Given the description of an element on the screen output the (x, y) to click on. 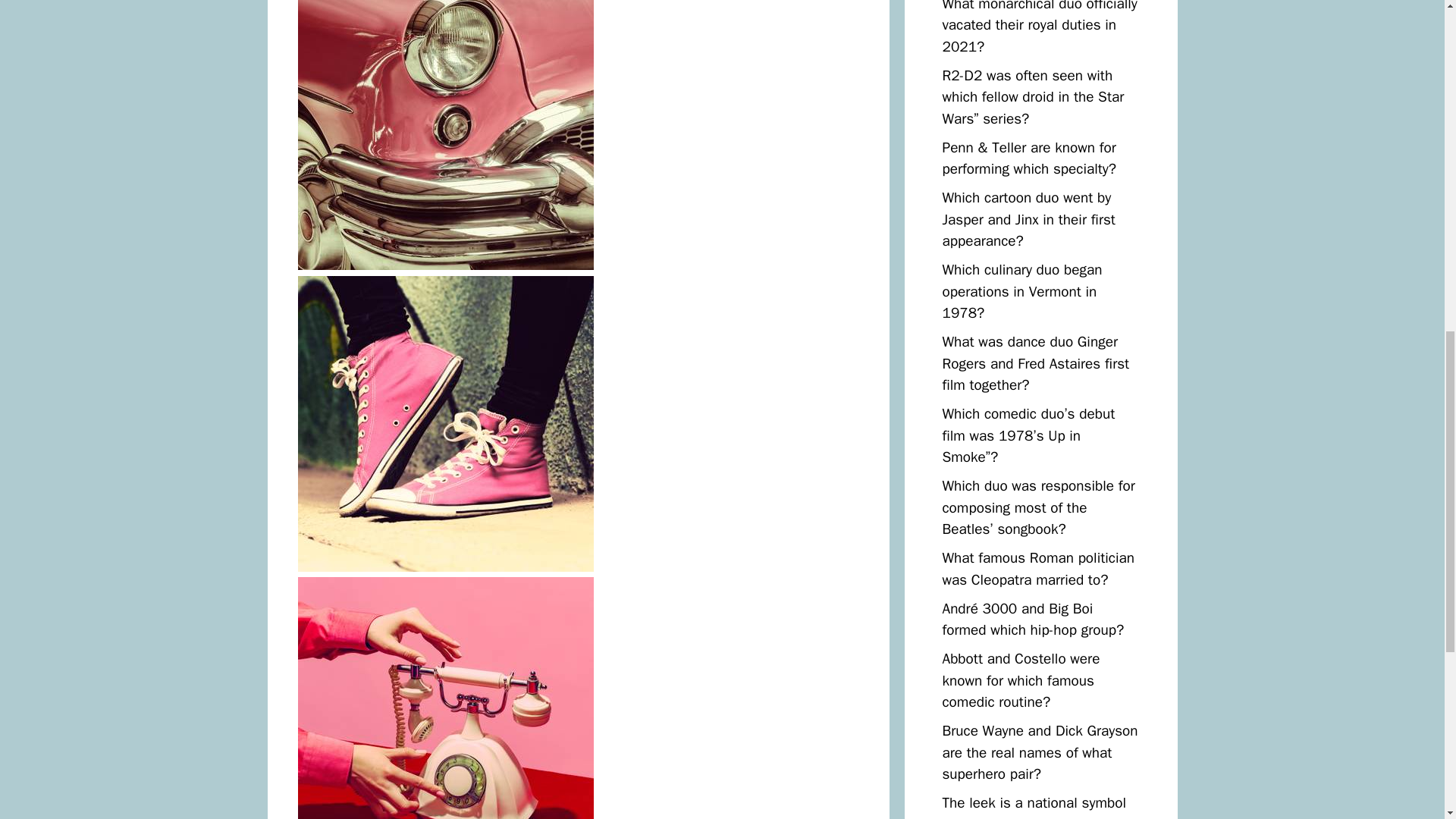
Which culinary duo began operations in Vermont in 1978? (1022, 291)
What famous Roman politician was Cleopatra married to? (1038, 568)
The leek is a national symbol of which European country? (1033, 806)
